Given the description of an element on the screen output the (x, y) to click on. 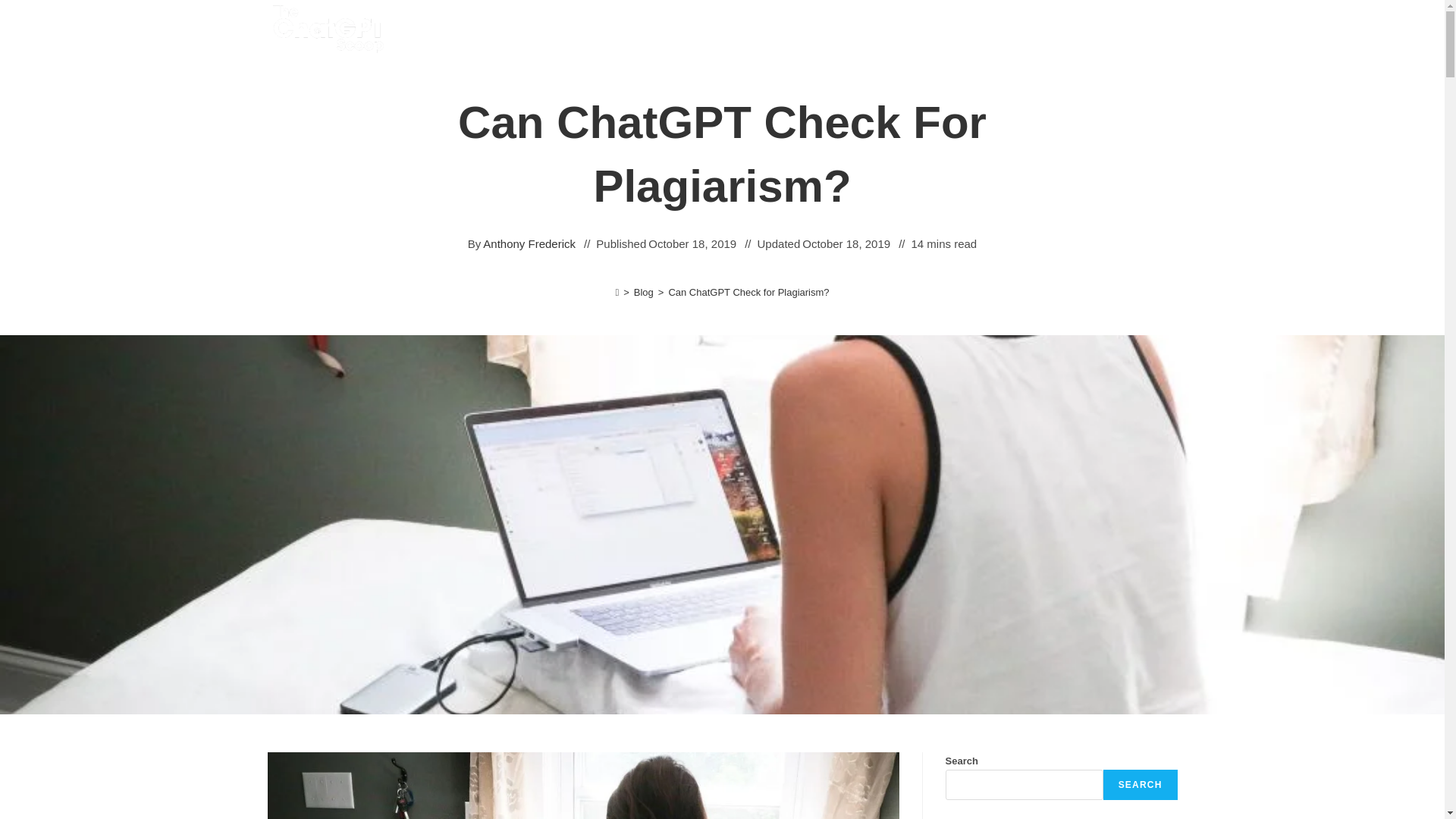
Anthony Frederick (529, 243)
Blog (643, 292)
Can ChatGPT Check for Plagiarism? (748, 292)
